Given the description of an element on the screen output the (x, y) to click on. 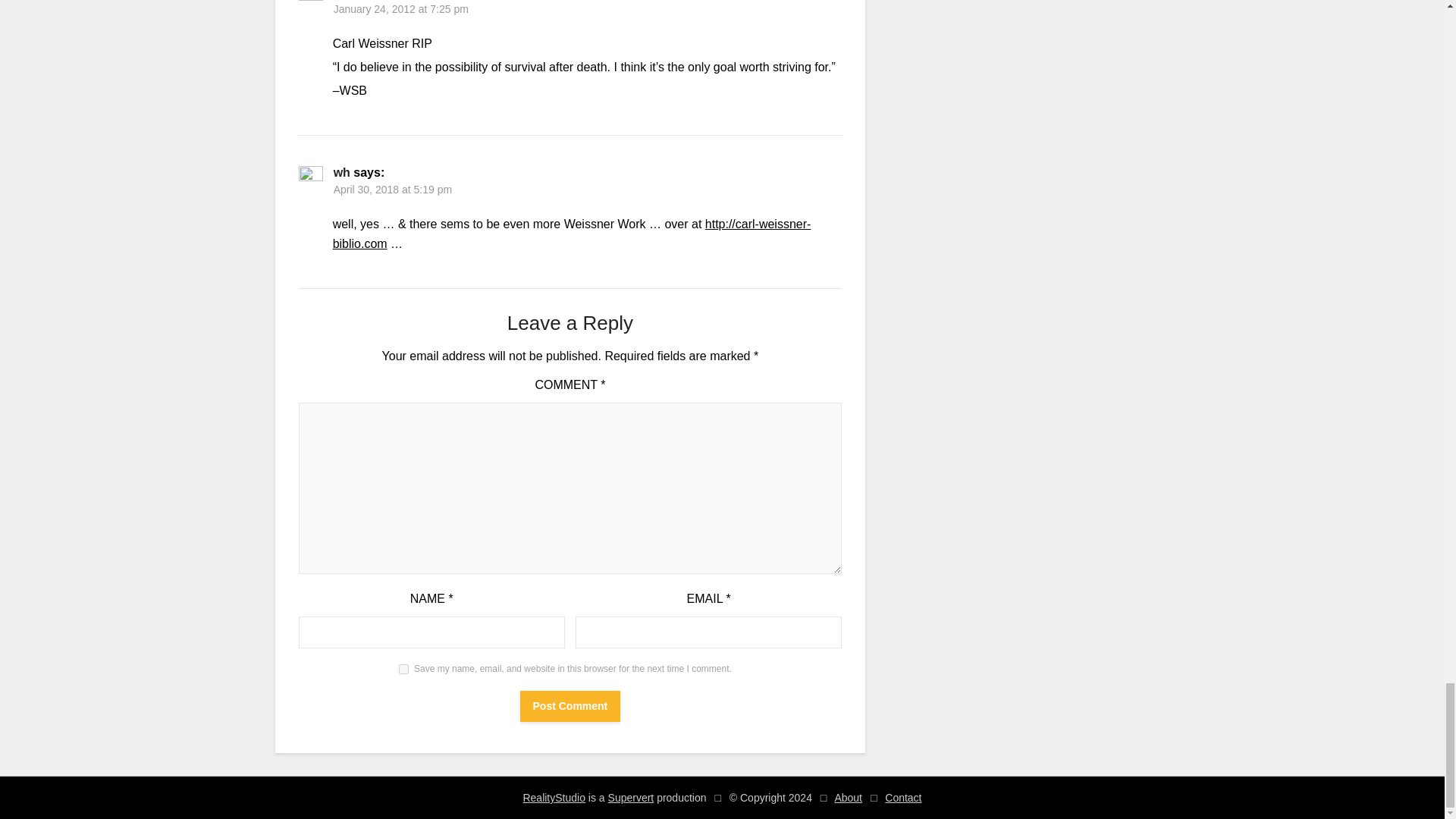
Post Comment (570, 706)
yes (403, 669)
